Given the description of an element on the screen output the (x, y) to click on. 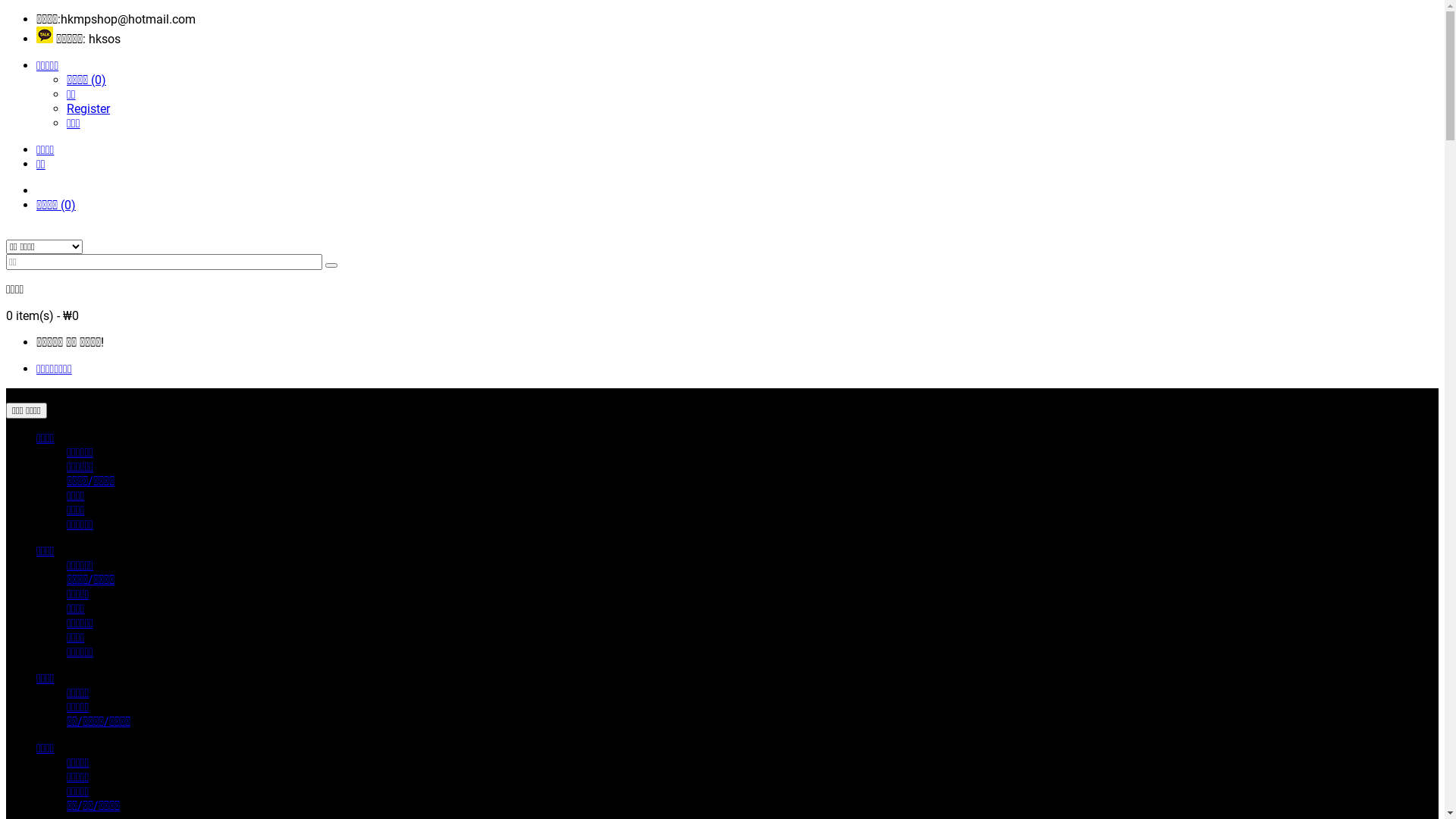
Register Element type: text (87, 108)
HKMPSHOP Element type: hover (6, 235)
